Given the description of an element on the screen output the (x, y) to click on. 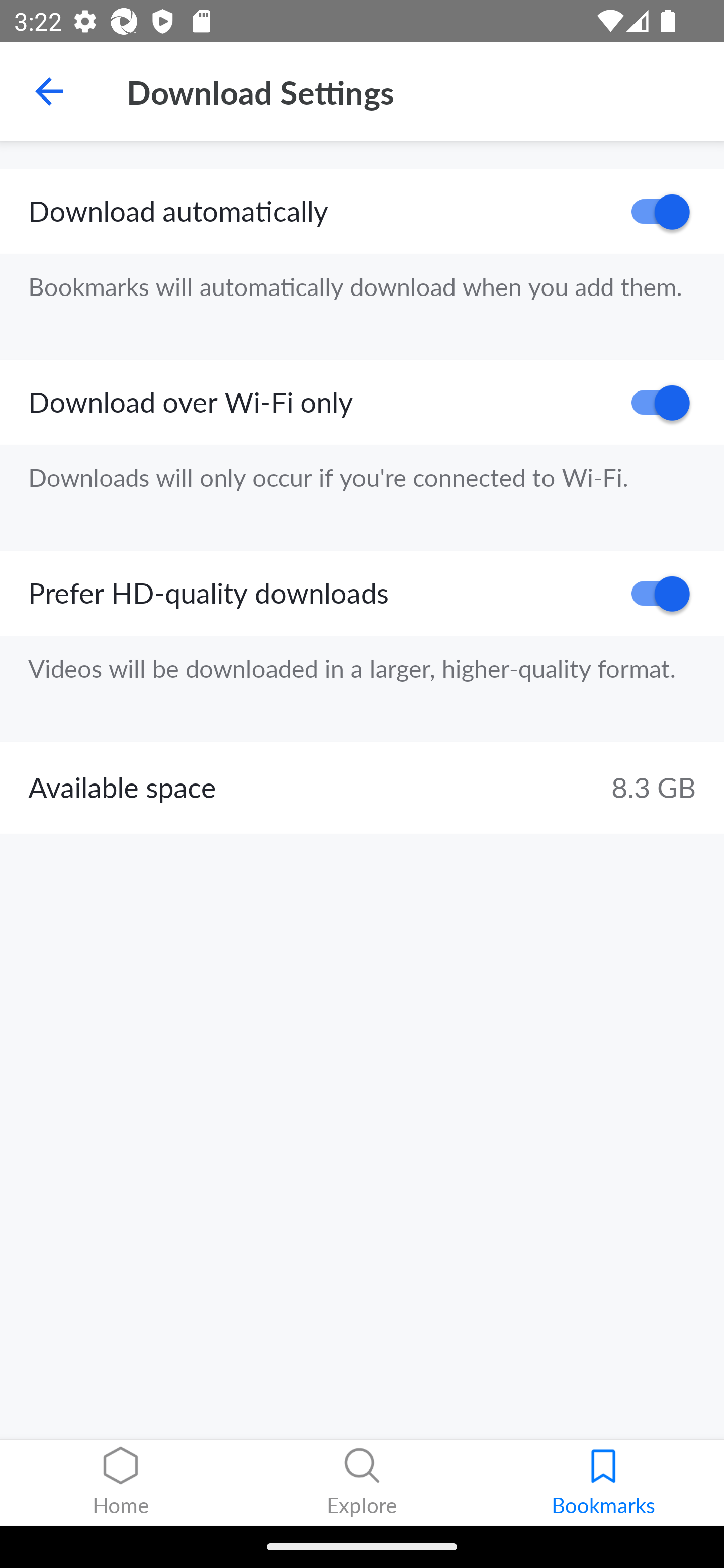
Navigate up (49, 91)
ON (653, 211)
ON (653, 402)
ON (653, 593)
Home (120, 1482)
Explore (361, 1482)
Bookmarks (603, 1482)
